Given the description of an element on the screen output the (x, y) to click on. 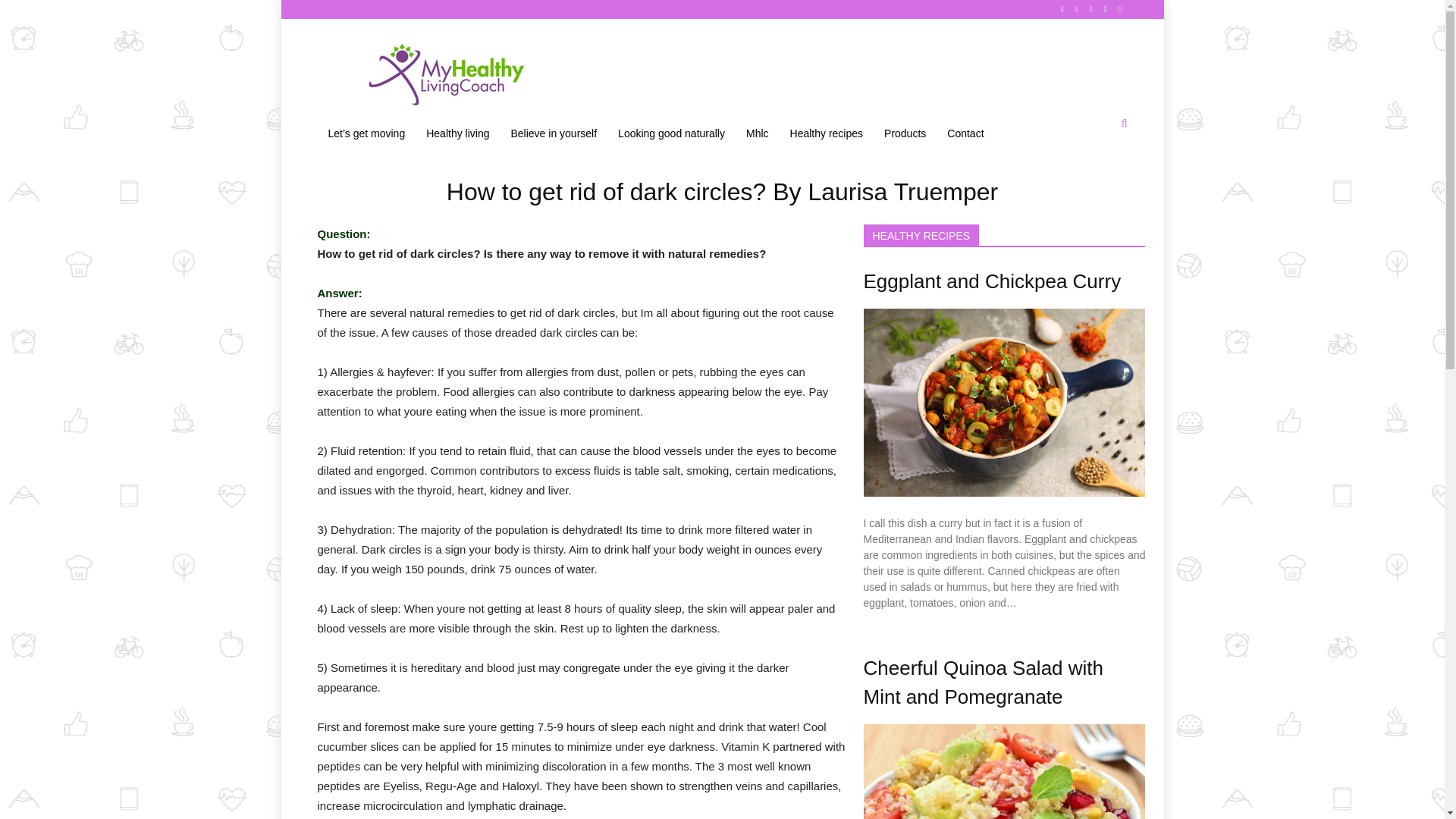
Mhlc (756, 133)
Facebook (1062, 9)
Looking good naturally (671, 133)
Pinterest (1091, 9)
Twitter (1106, 9)
Eggplant and Chickpea Curry (992, 281)
Believe in yourself (553, 133)
Cheerful Quinoa Salad with Mint and Pomegranate (983, 682)
Youtube (1120, 9)
Healthy living (456, 133)
